Given the description of an element on the screen output the (x, y) to click on. 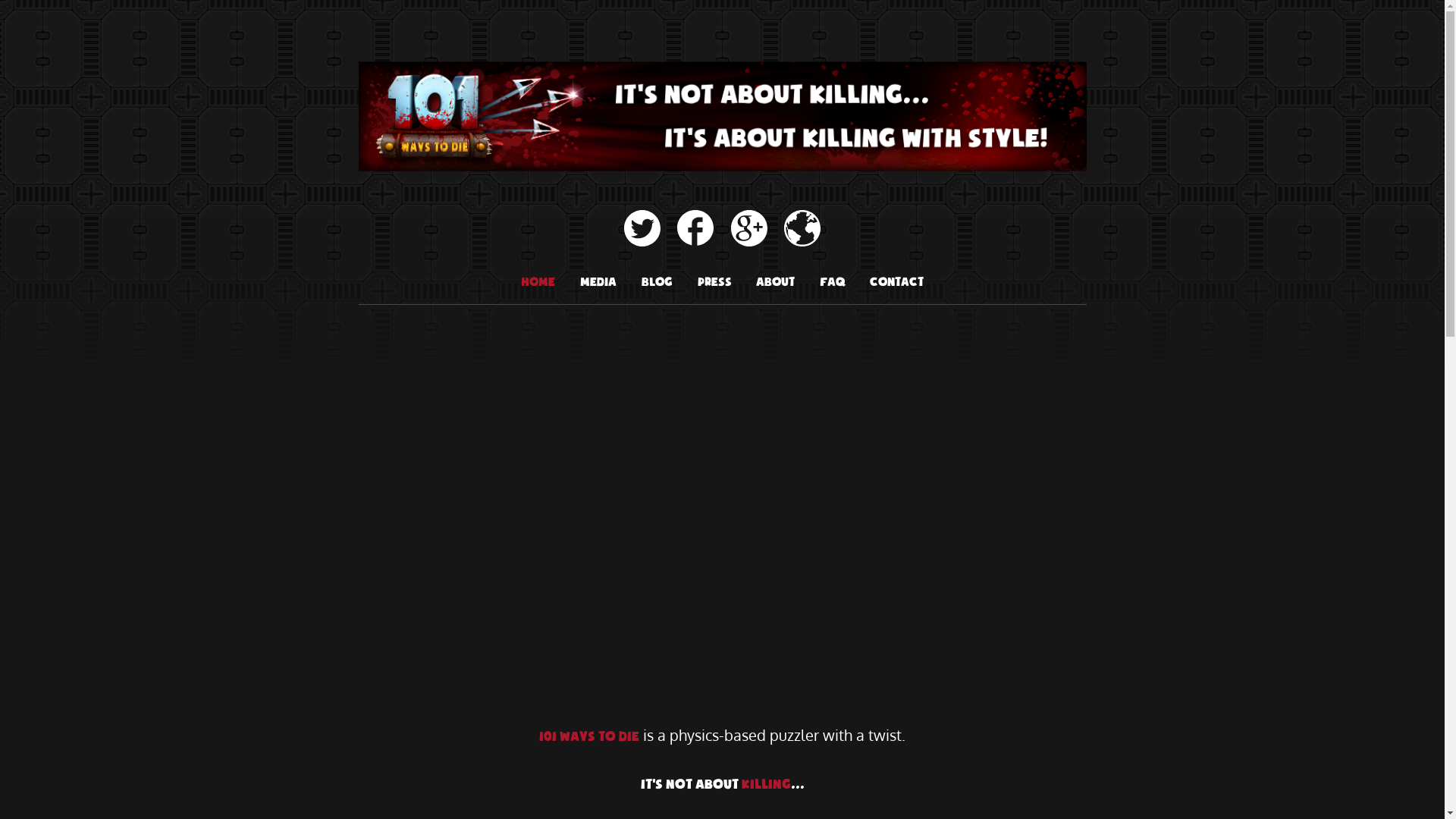
Contact Element type: text (896, 282)
Press Element type: text (714, 282)
Home Element type: text (537, 282)
FAQ Element type: text (831, 282)
Blog Element type: text (656, 282)
About Element type: text (775, 282)
Media Element type: text (598, 282)
101 Ways To Die Element type: hover (721, 182)
